Given the description of an element on the screen output the (x, y) to click on. 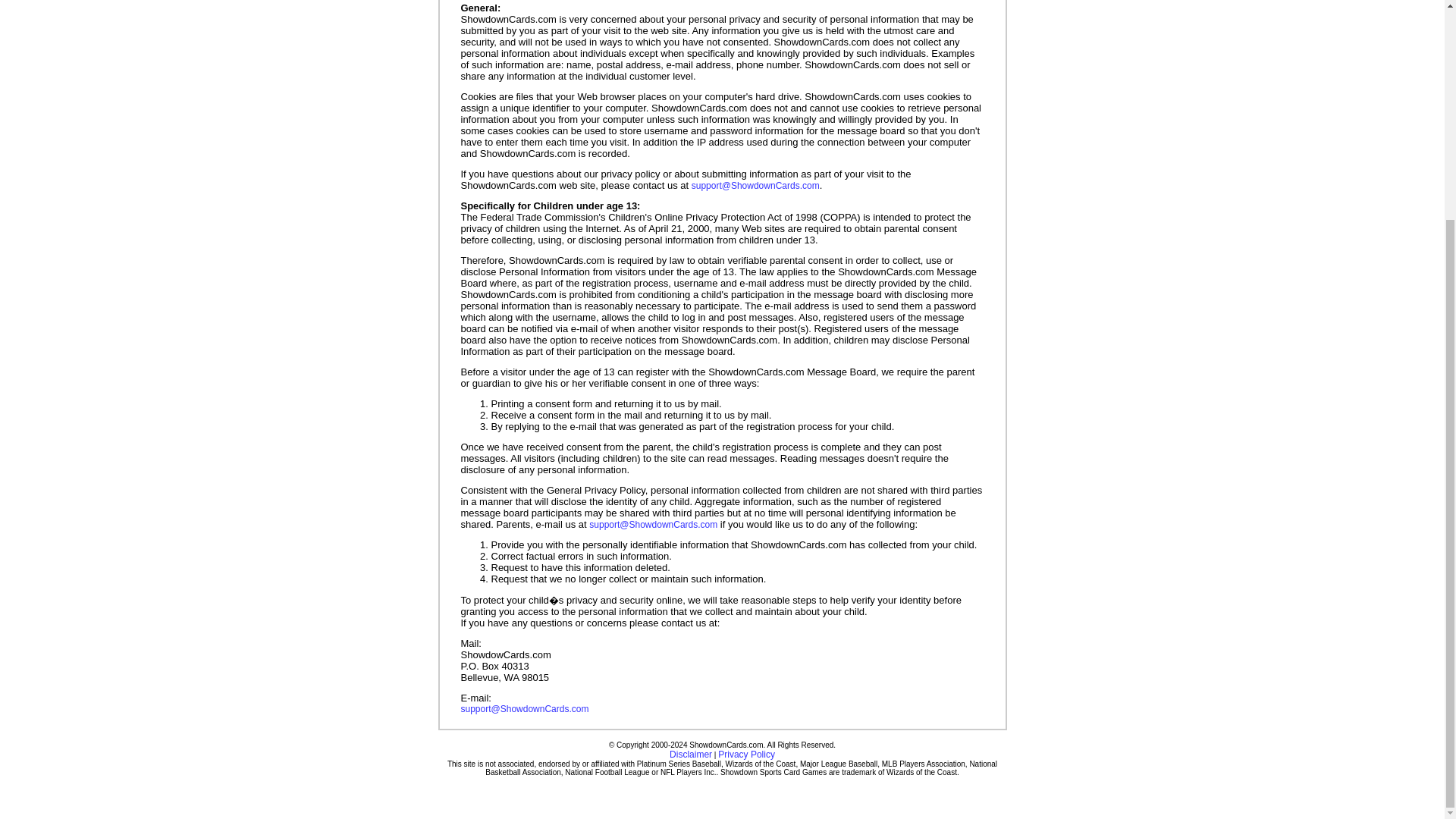
Disclaimer (690, 754)
Privacy Policy (745, 754)
